Given the description of an element on the screen output the (x, y) to click on. 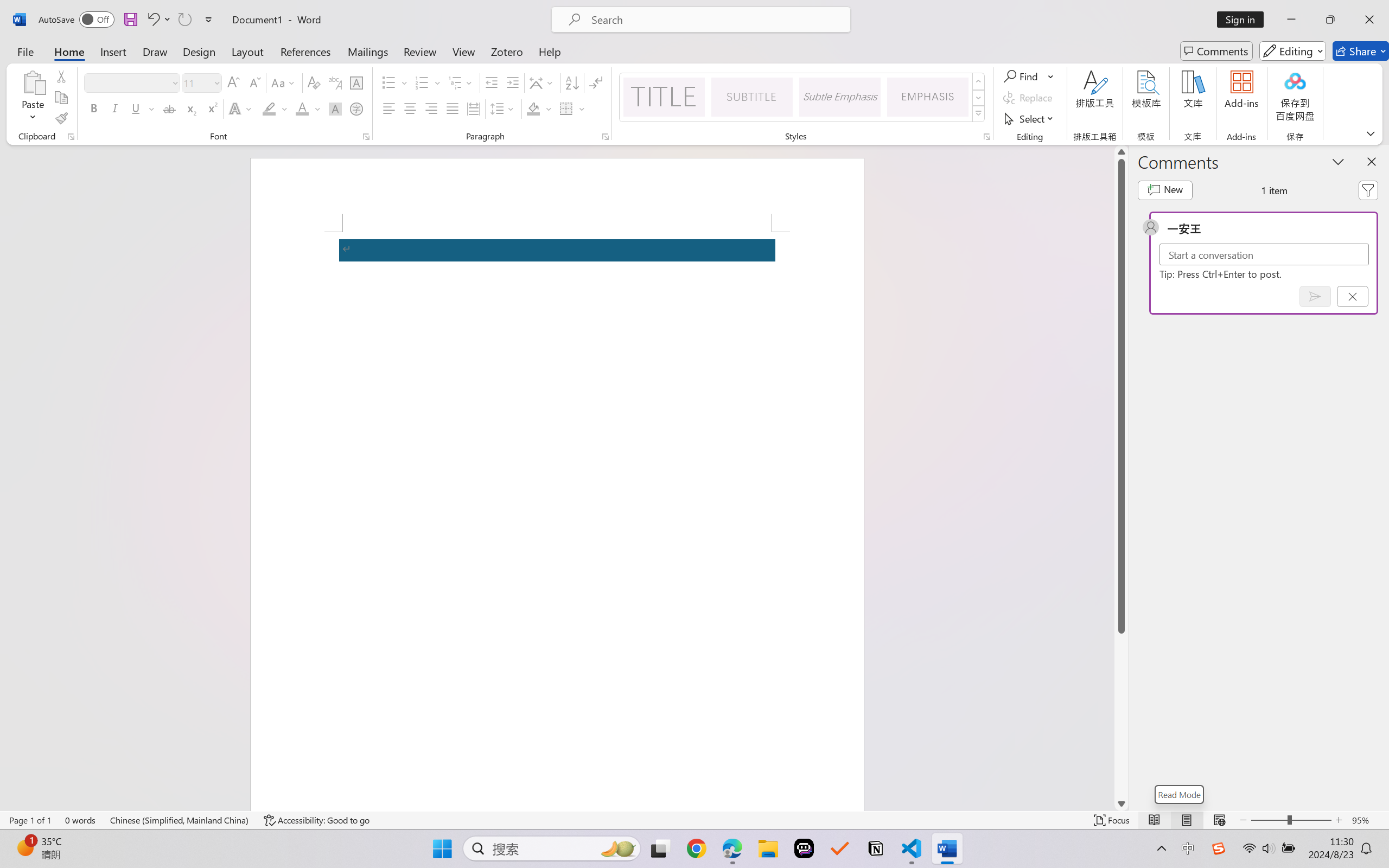
Editing (1292, 50)
Title (663, 96)
Line up (1120, 151)
